Given the description of an element on the screen output the (x, y) to click on. 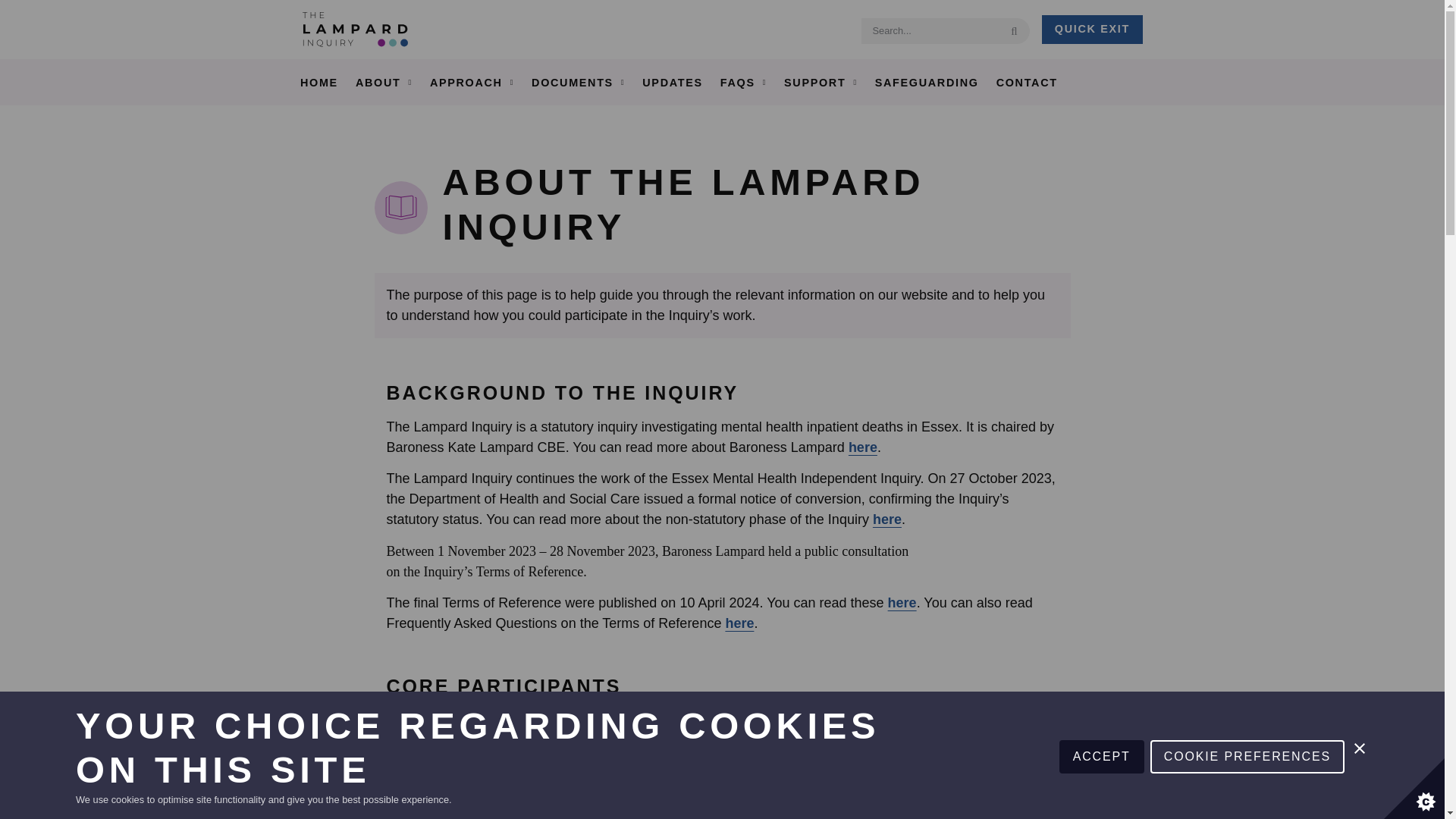
APPROACH (471, 82)
COOKIE PREFERENCES (1246, 811)
ABOUT (383, 82)
QUICK EXIT (1091, 29)
DOCUMENTS (577, 82)
HOME (318, 82)
